Given the description of an element on the screen output the (x, y) to click on. 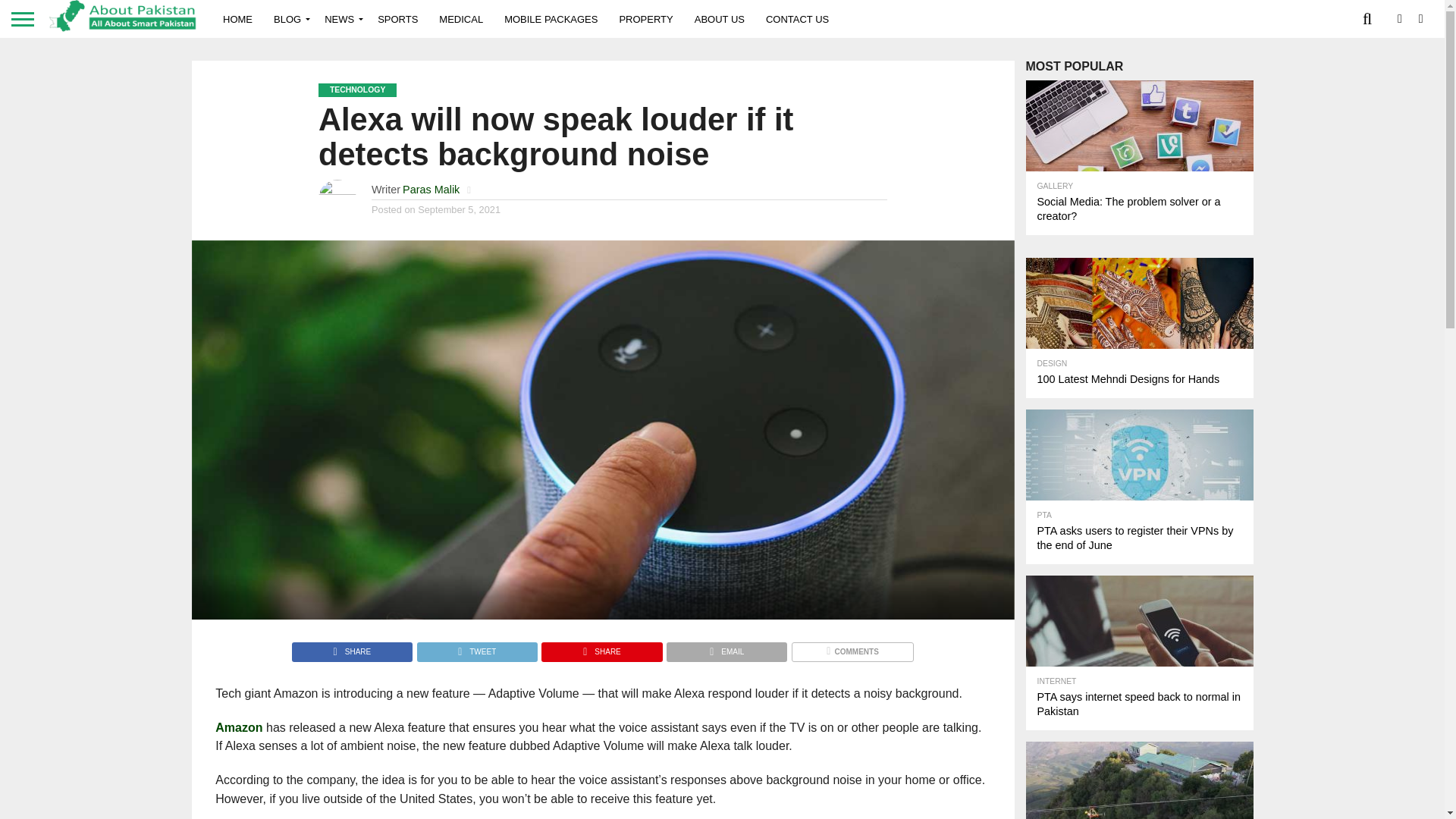
Tweet This Post (476, 647)
Pin This Post (601, 647)
Posts by Paras Malik (431, 189)
Share on Facebook (352, 647)
HOME (237, 18)
BLOG (288, 18)
